Given the description of an element on the screen output the (x, y) to click on. 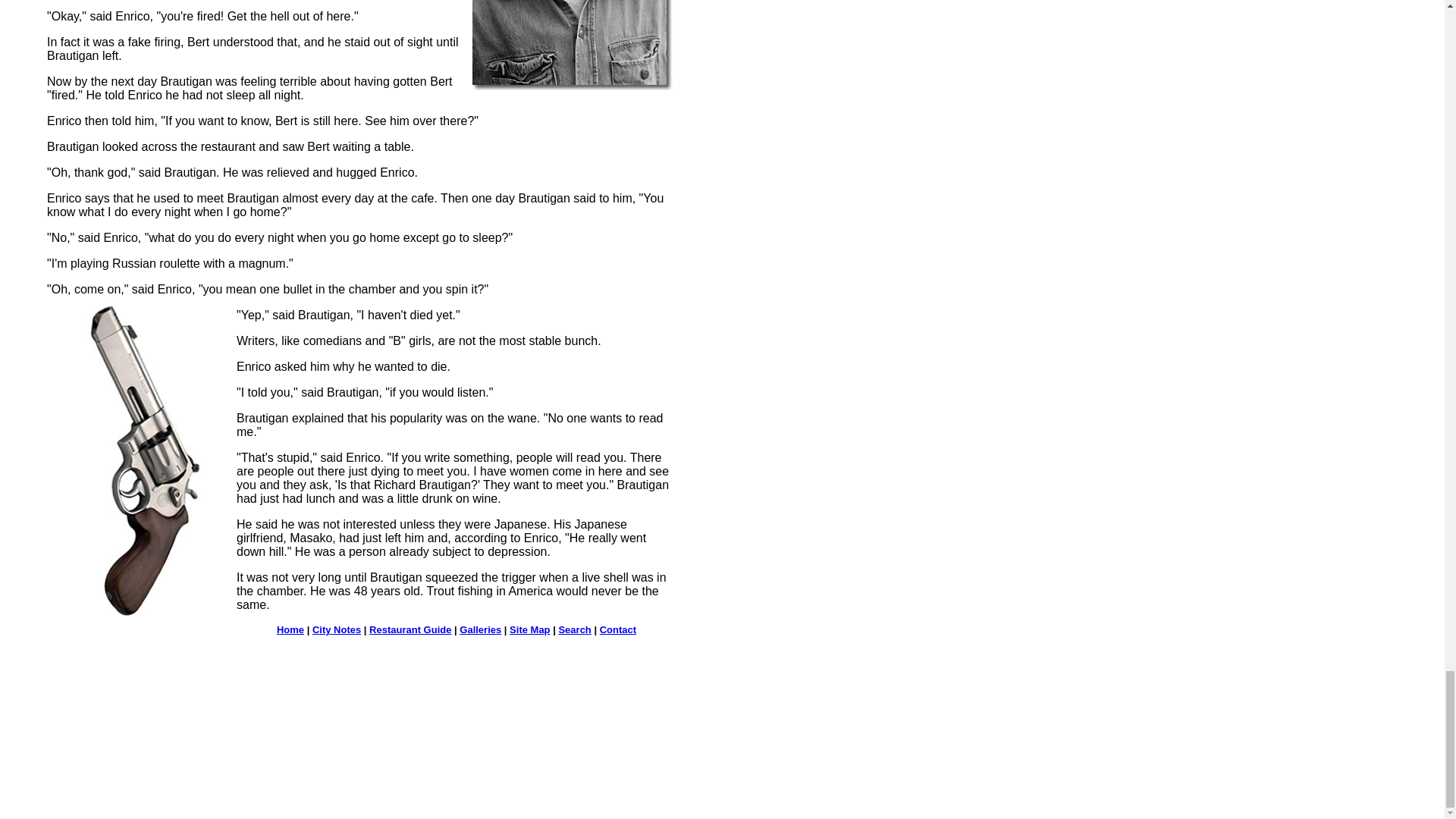
Home (290, 629)
City Notes (337, 629)
Search (574, 629)
Galleries (480, 629)
Site Map (529, 629)
Contact (617, 629)
Restaurant Guide (410, 629)
